Given the description of an element on the screen output the (x, y) to click on. 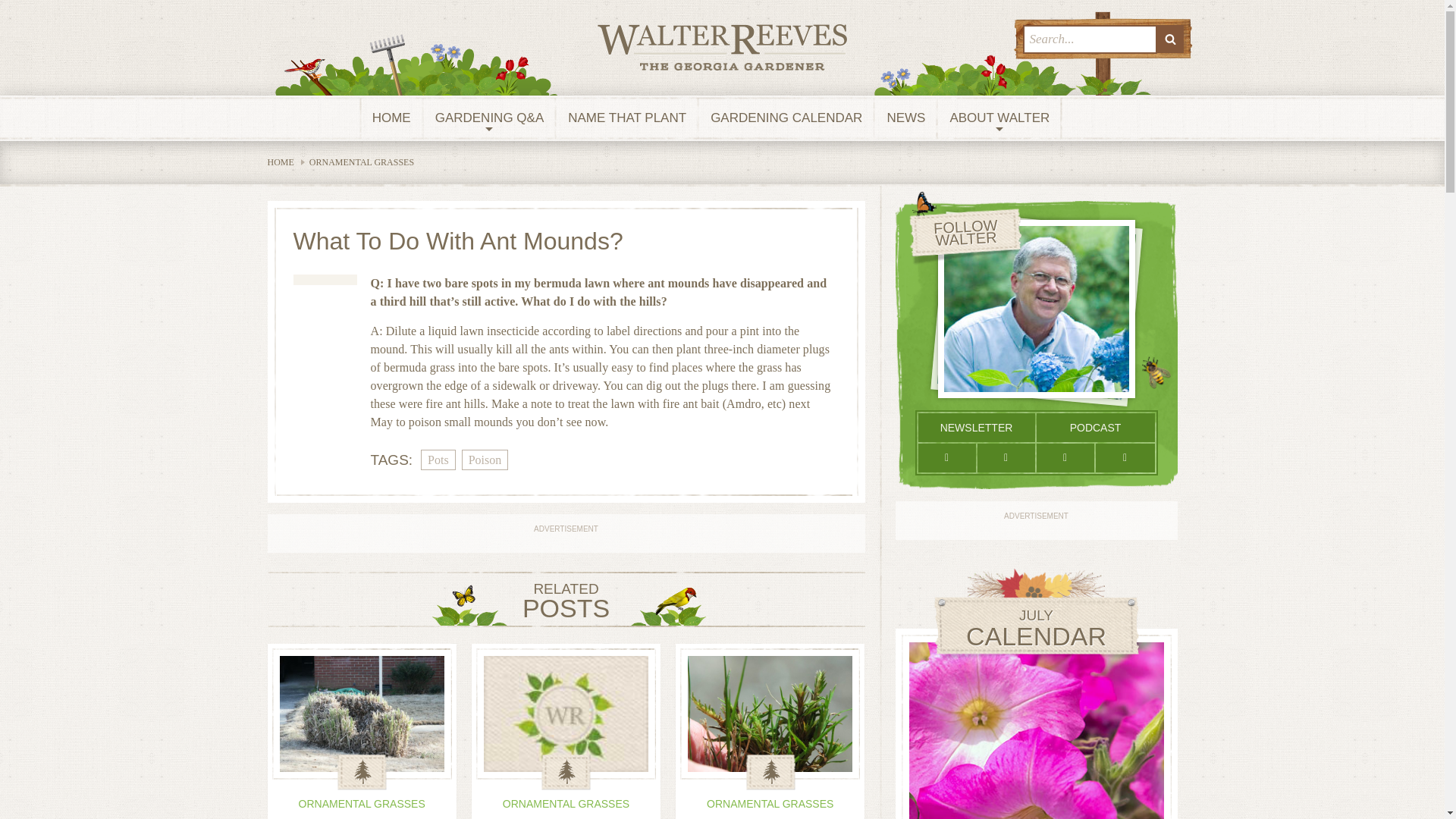
HOME (391, 117)
Search for: (1089, 39)
NEWS (906, 117)
GARDENING CALENDAR (786, 117)
ABOUT WALTER (999, 117)
NAME THAT PLANT (627, 117)
SEARCH (1170, 39)
